Given the description of an element on the screen output the (x, y) to click on. 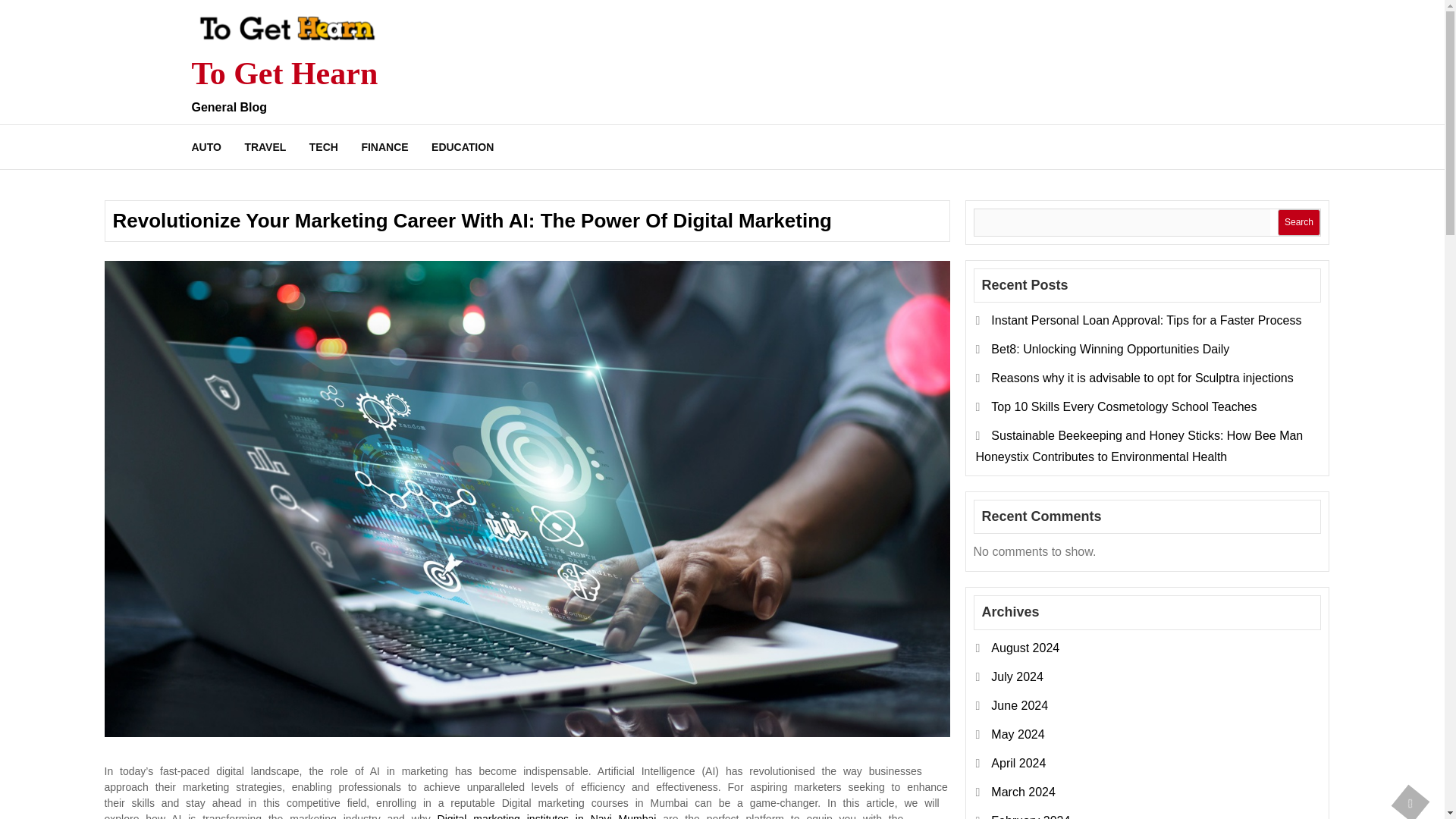
February 2024 (1030, 816)
August 2024 (1025, 647)
Bet8: Unlocking Winning Opportunities Daily (1109, 349)
FINANCE (383, 146)
To Get Hearn (283, 73)
TECH (323, 146)
TRAVEL (264, 146)
Digital marketing institutes in Navi Mumbai (543, 816)
EDUCATION (462, 146)
Top 10 Skills Every Cosmetology School Teaches (1123, 406)
